Given the description of an element on the screen output the (x, y) to click on. 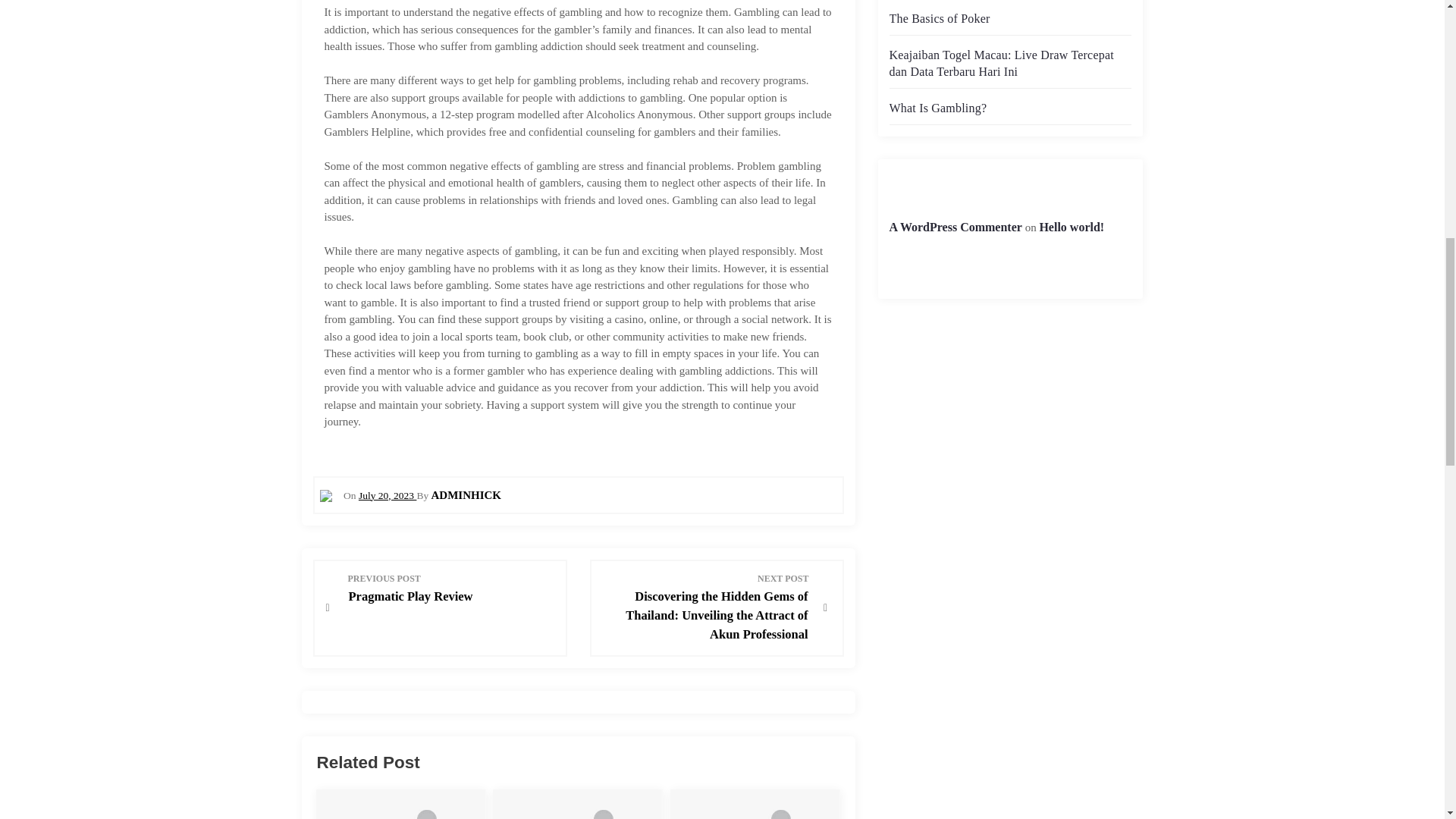
The Basics of Poker (451, 588)
July 20, 2023 (939, 18)
Hello world! (387, 495)
ADMINHICK (1071, 226)
A WordPress Commenter (466, 494)
What Is Gambling? (955, 226)
